Given the description of an element on the screen output the (x, y) to click on. 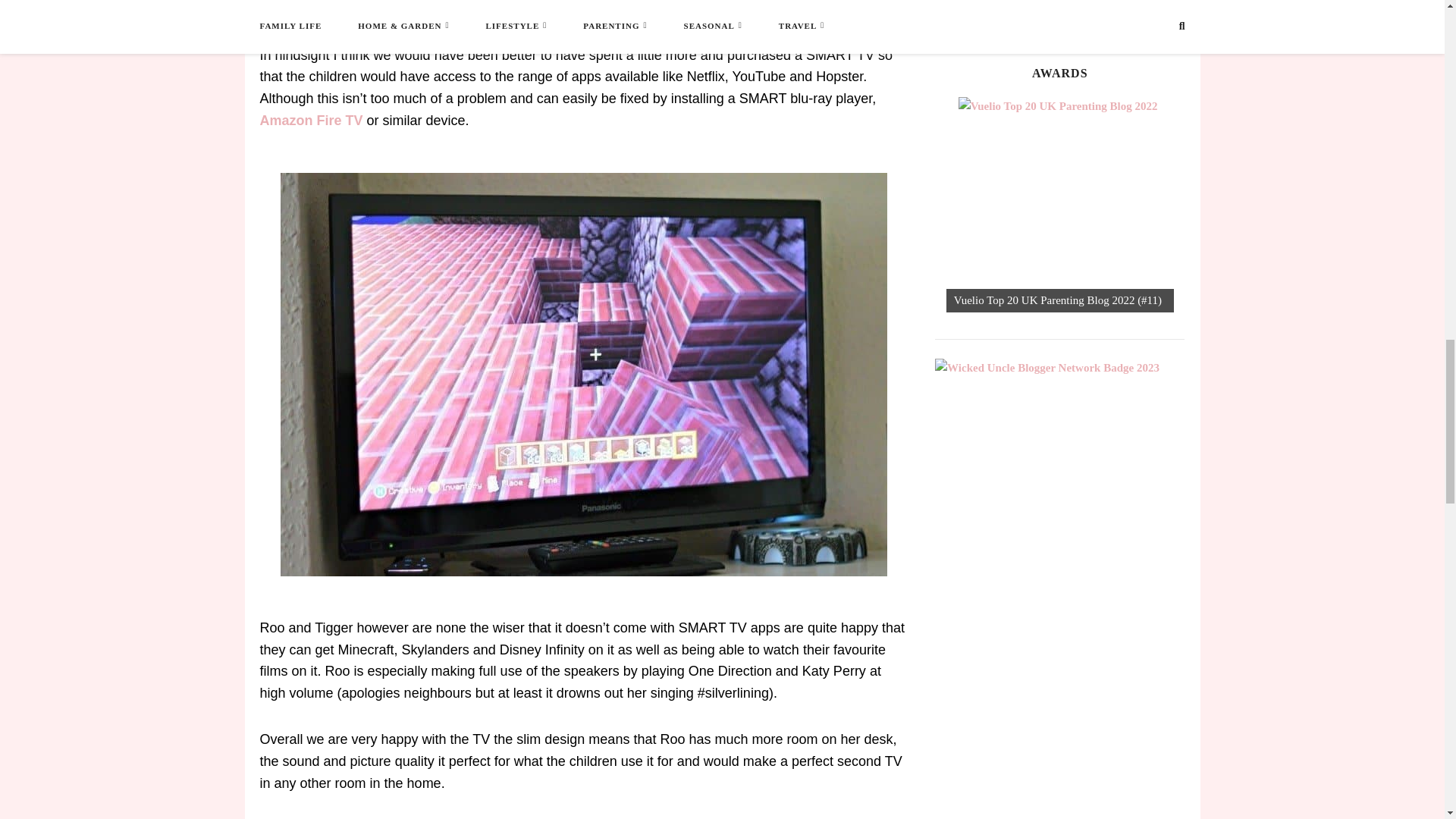
Vuelio Top 20 UK Parenting Blog 2022 (1065, 204)
